Given the description of an element on the screen output the (x, y) to click on. 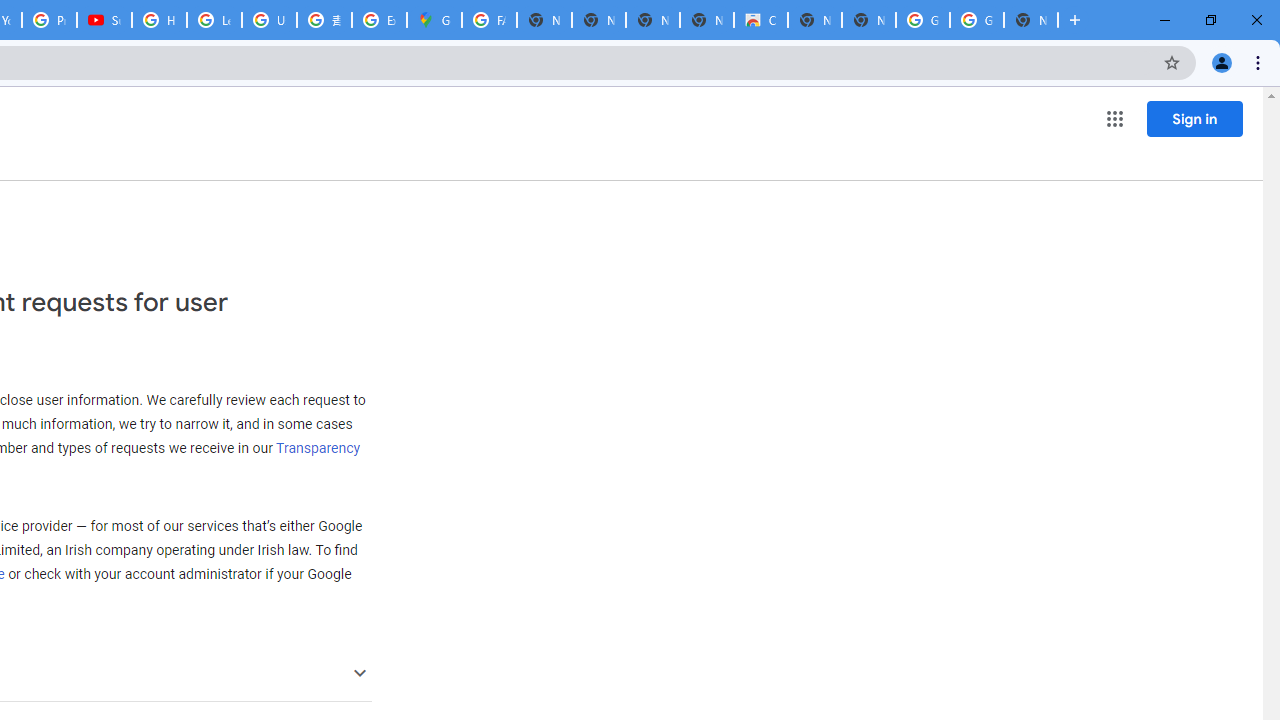
Explore new street-level details - Google Maps Help (379, 20)
Google Images (976, 20)
How Chrome protects your passwords - Google Chrome Help (158, 20)
Subscriptions - YouTube (103, 20)
